Given the description of an element on the screen output the (x, y) to click on. 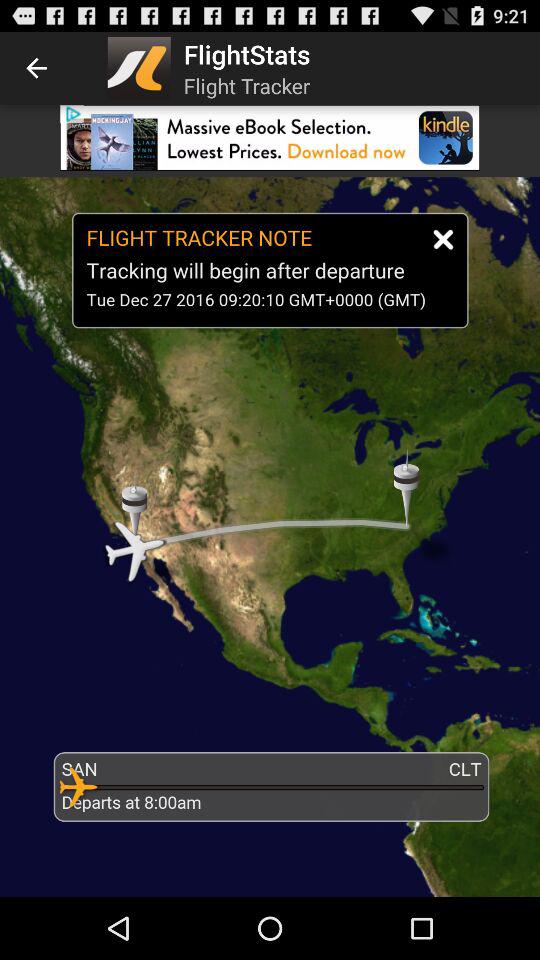
open app download link (270, 137)
